Given the description of an element on the screen output the (x, y) to click on. 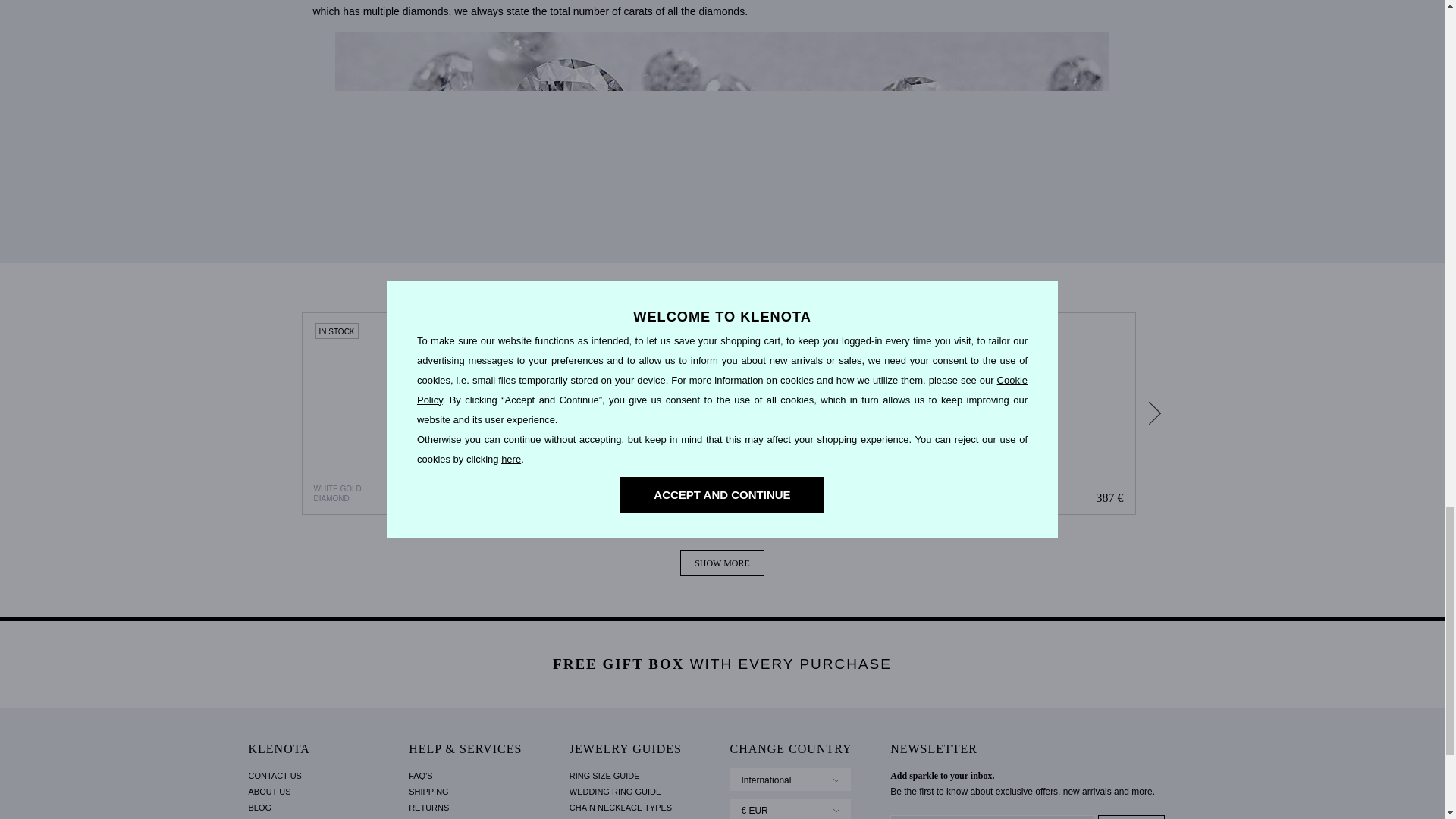
White Gold Diamond Children's Angel Pendant (403, 413)
Bird-shaped Pendant Necklace in White Gold (613, 413)
Bird Pendant with a Diamond in White Gold (1034, 413)
Snowflake Diamond Necklace in 14K White Gold (823, 413)
Bird Pendant with a Diamond in White Gold (1034, 413)
Snowflake Diamond Necklace in 14K White Gold (823, 413)
White Gold Diamond Children's Angel Pendant (402, 413)
Bird-shaped Pendant Necklace in White Gold (613, 413)
